Given the description of an element on the screen output the (x, y) to click on. 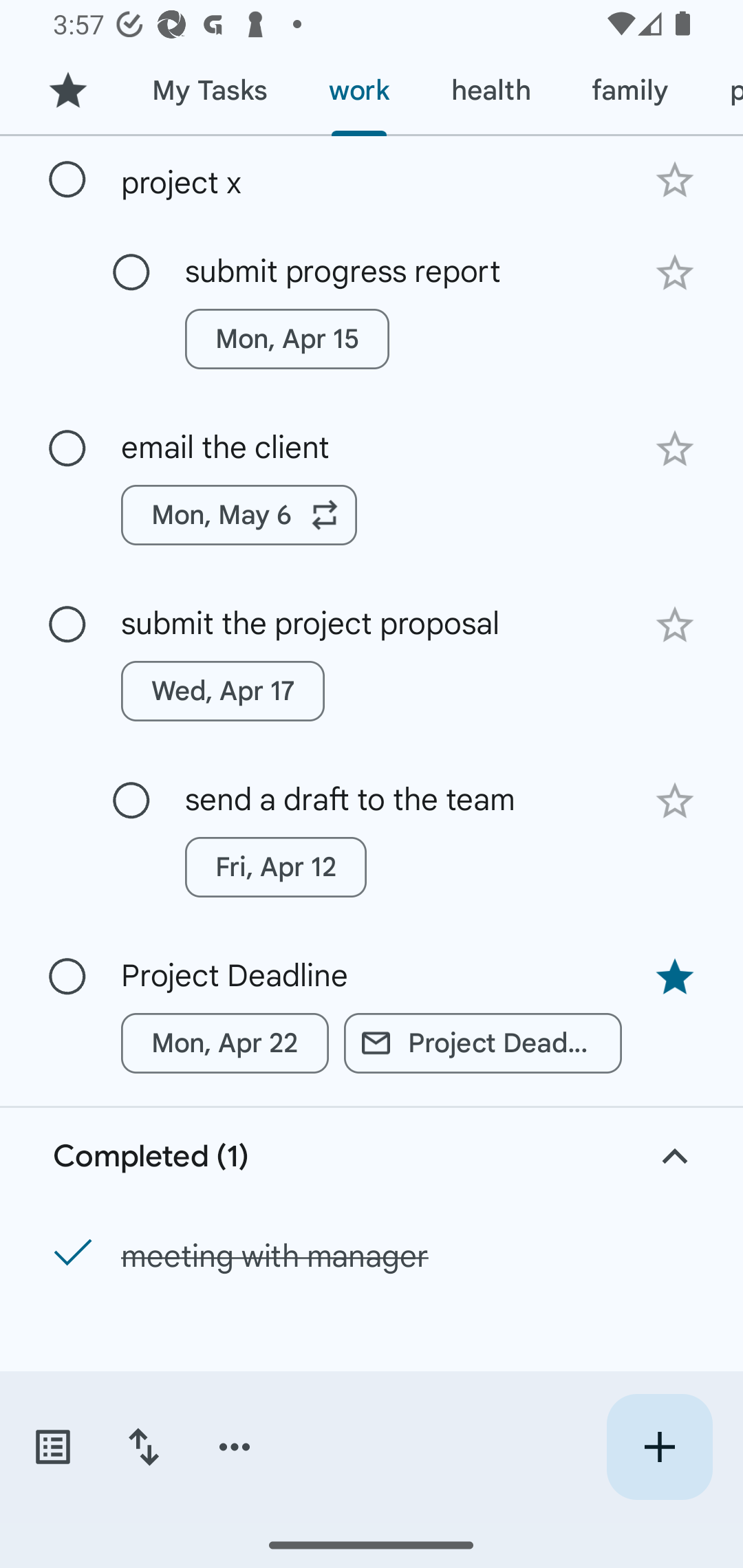
Starred (67, 90)
My Tasks (209, 90)
health (490, 90)
family (629, 90)
Add star (674, 180)
Mark as complete (67, 179)
Add star (674, 272)
Mark as complete (131, 273)
Mon, Apr 15 (287, 338)
Add star (674, 447)
Mark as complete (67, 448)
Mon, May 6 (239, 514)
Add star (674, 625)
Mark as complete (67, 624)
Wed, Apr 17 (222, 691)
Add star (674, 800)
Mark as complete (131, 800)
Fri, Apr 12 (276, 866)
Remove star (674, 976)
Mark as complete (67, 977)
Mon, Apr 22 (225, 1042)
Project Deadline Related link (482, 1042)
Completed (1) (371, 1156)
Mark as not complete (67, 1253)
Switch task lists (52, 1447)
Create new task (659, 1446)
Change sort order (143, 1446)
More options (234, 1446)
